Given the description of an element on the screen output the (x, y) to click on. 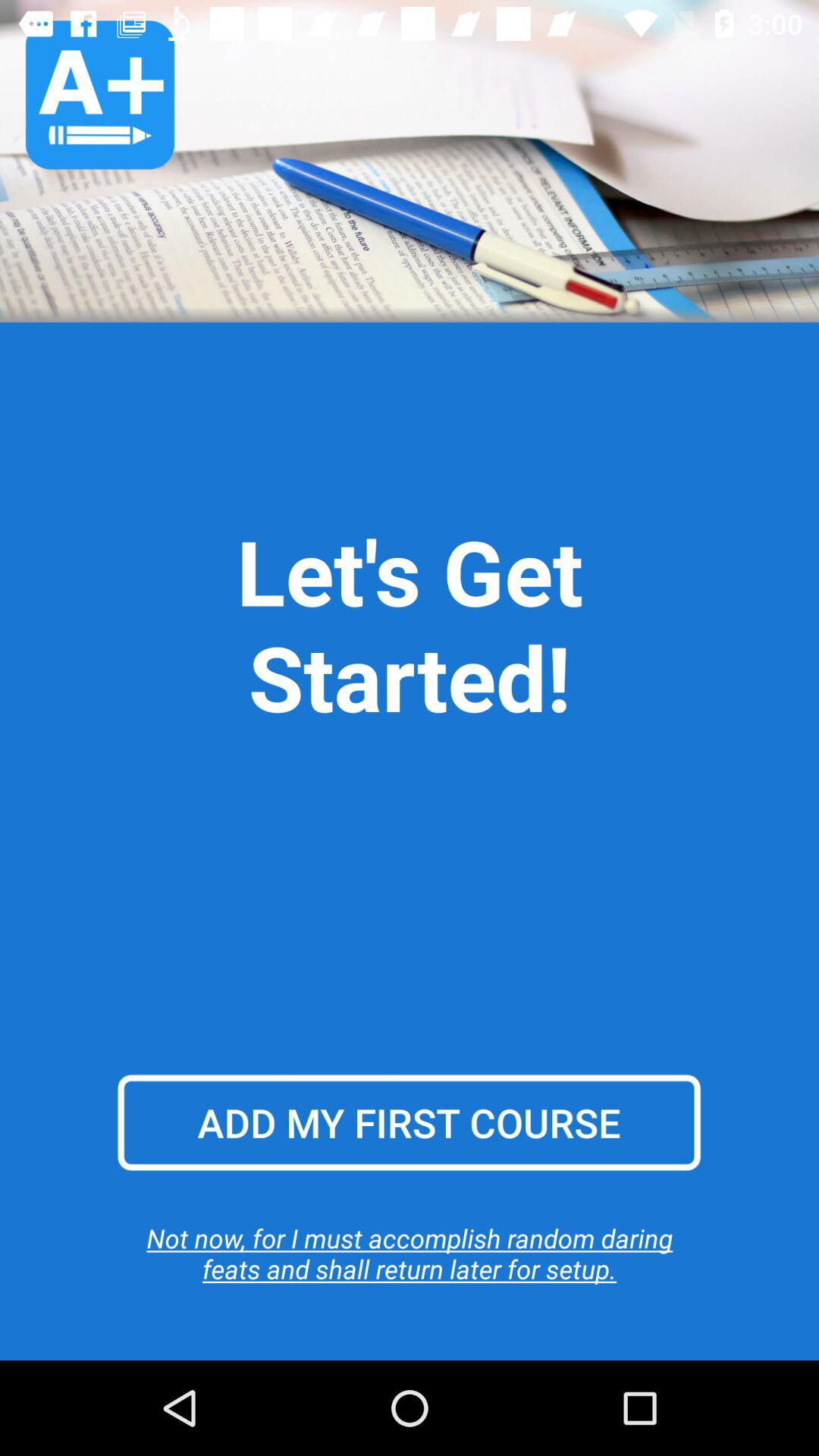
click icon below the add my first item (409, 1253)
